Given the description of an element on the screen output the (x, y) to click on. 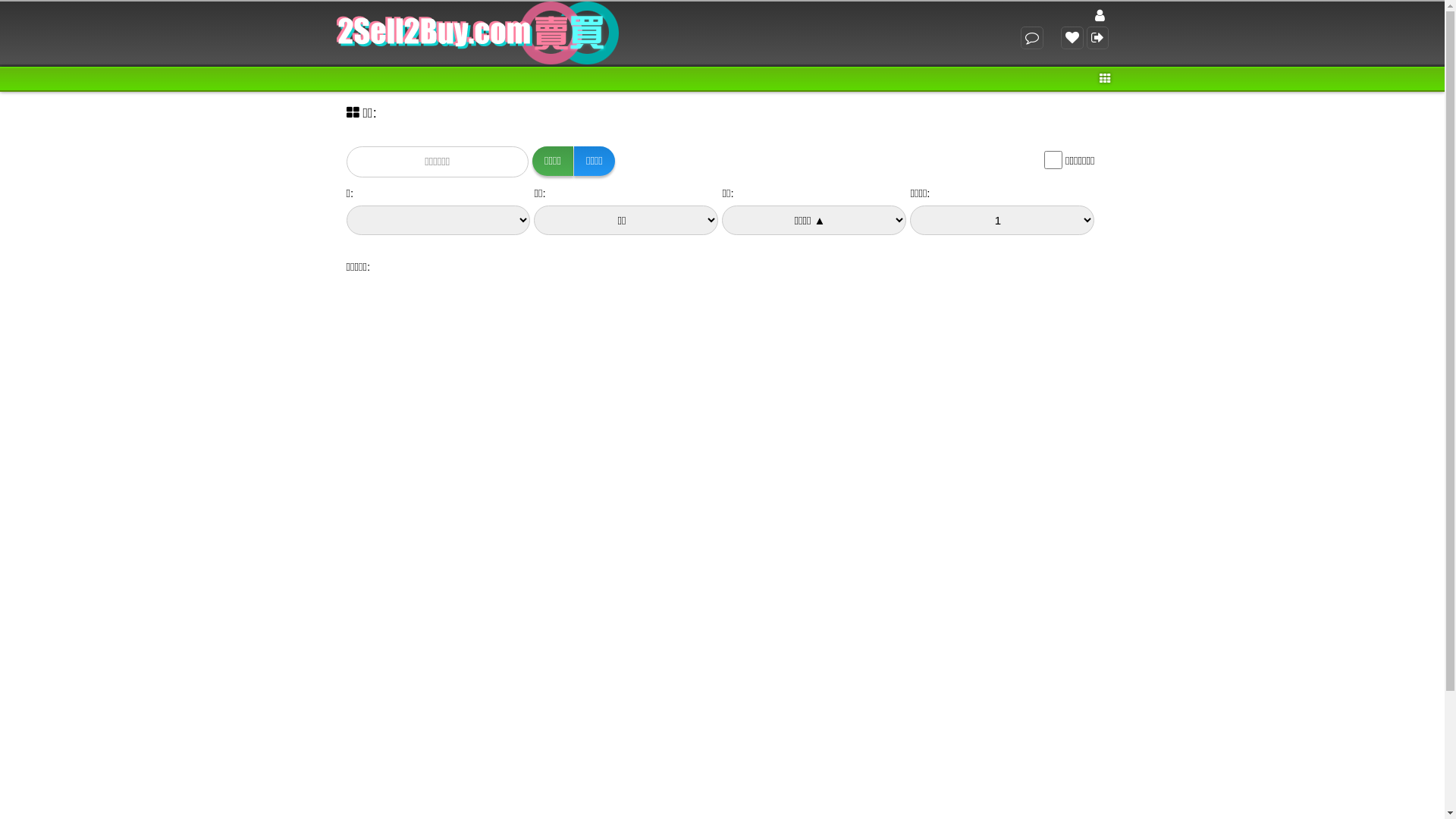
on Element type: text (1053, 159)
